Given the description of an element on the screen output the (x, y) to click on. 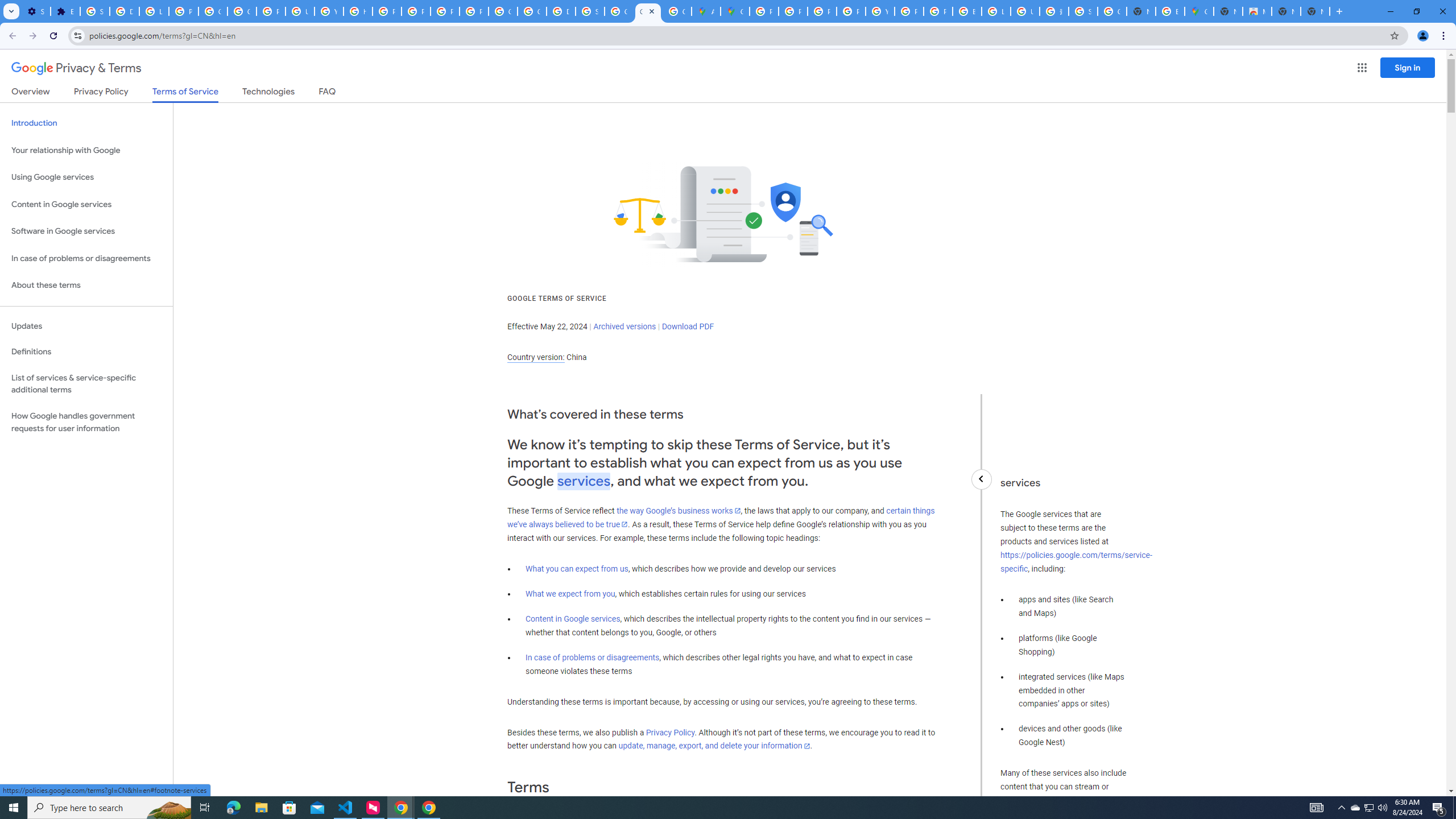
New Tab (1315, 11)
Your relationship with Google (86, 150)
Policy Accountability and Transparency - Transparency Center (763, 11)
https://policies.google.com/terms/service-specific (1075, 562)
Create your Google Account (677, 11)
